Given the description of an element on the screen output the (x, y) to click on. 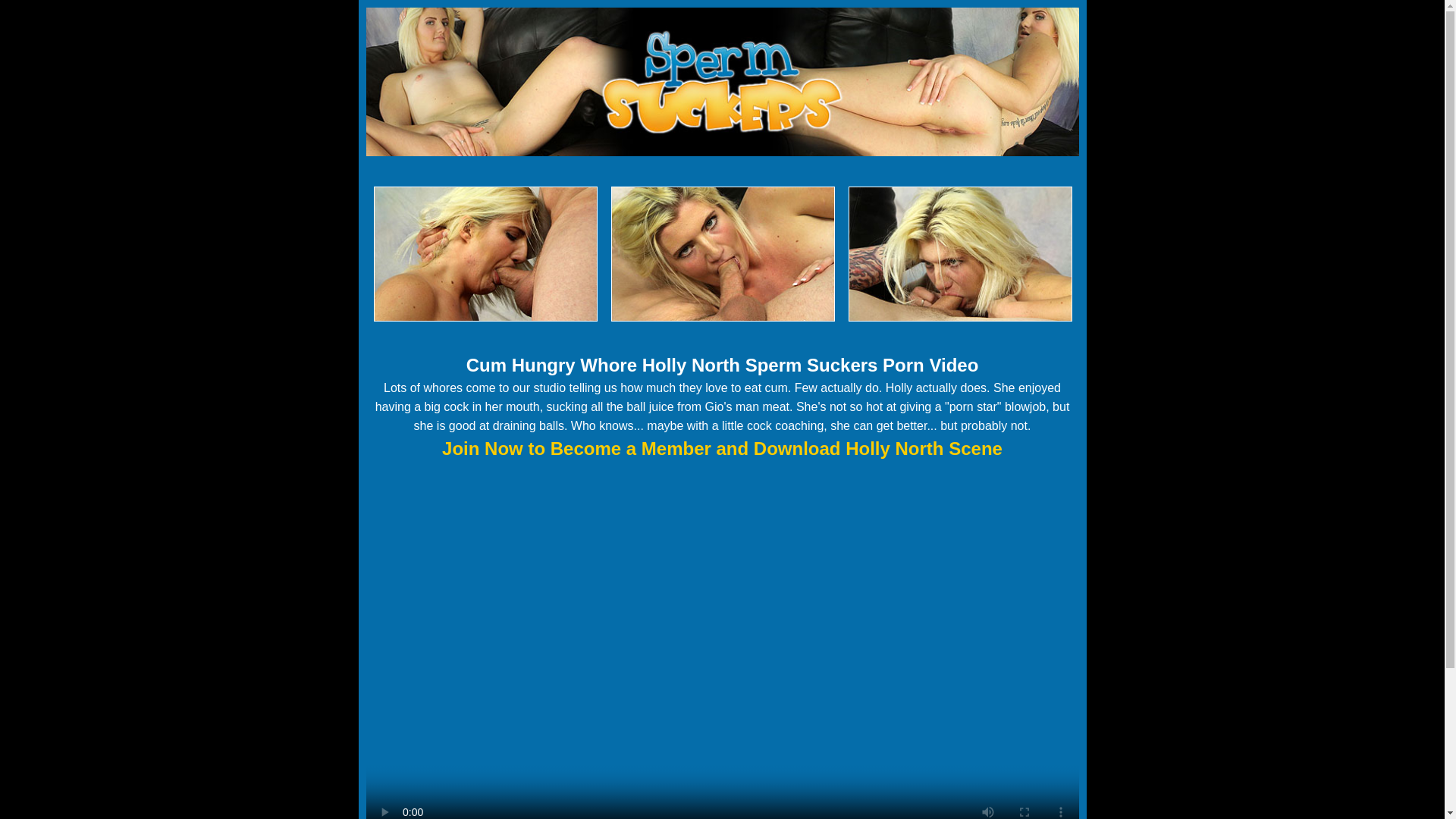
Join Now to Become a Member and Download Holly North Scene (722, 448)
